Given the description of an element on the screen output the (x, y) to click on. 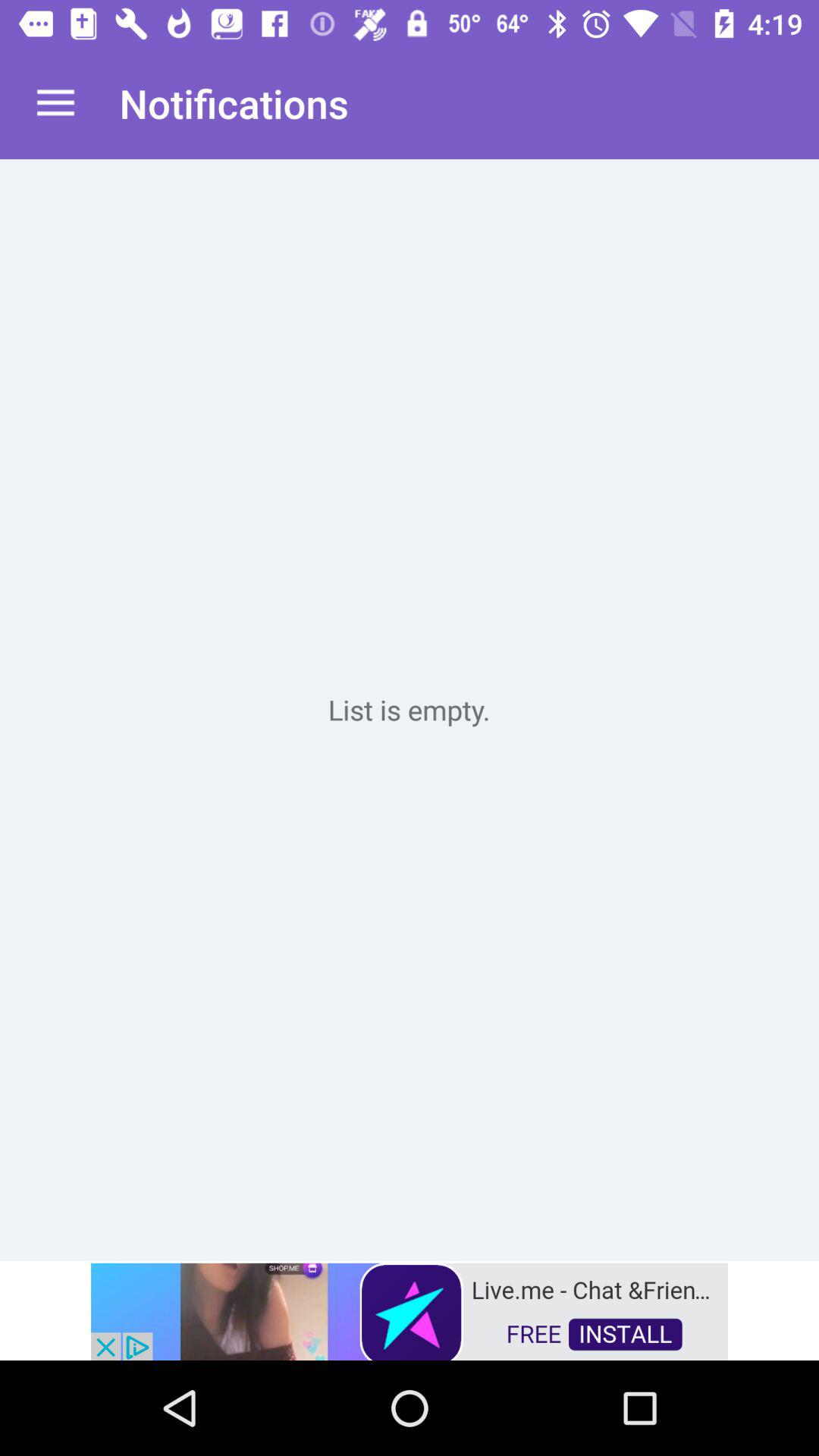
color print (409, 709)
